Given the description of an element on the screen output the (x, y) to click on. 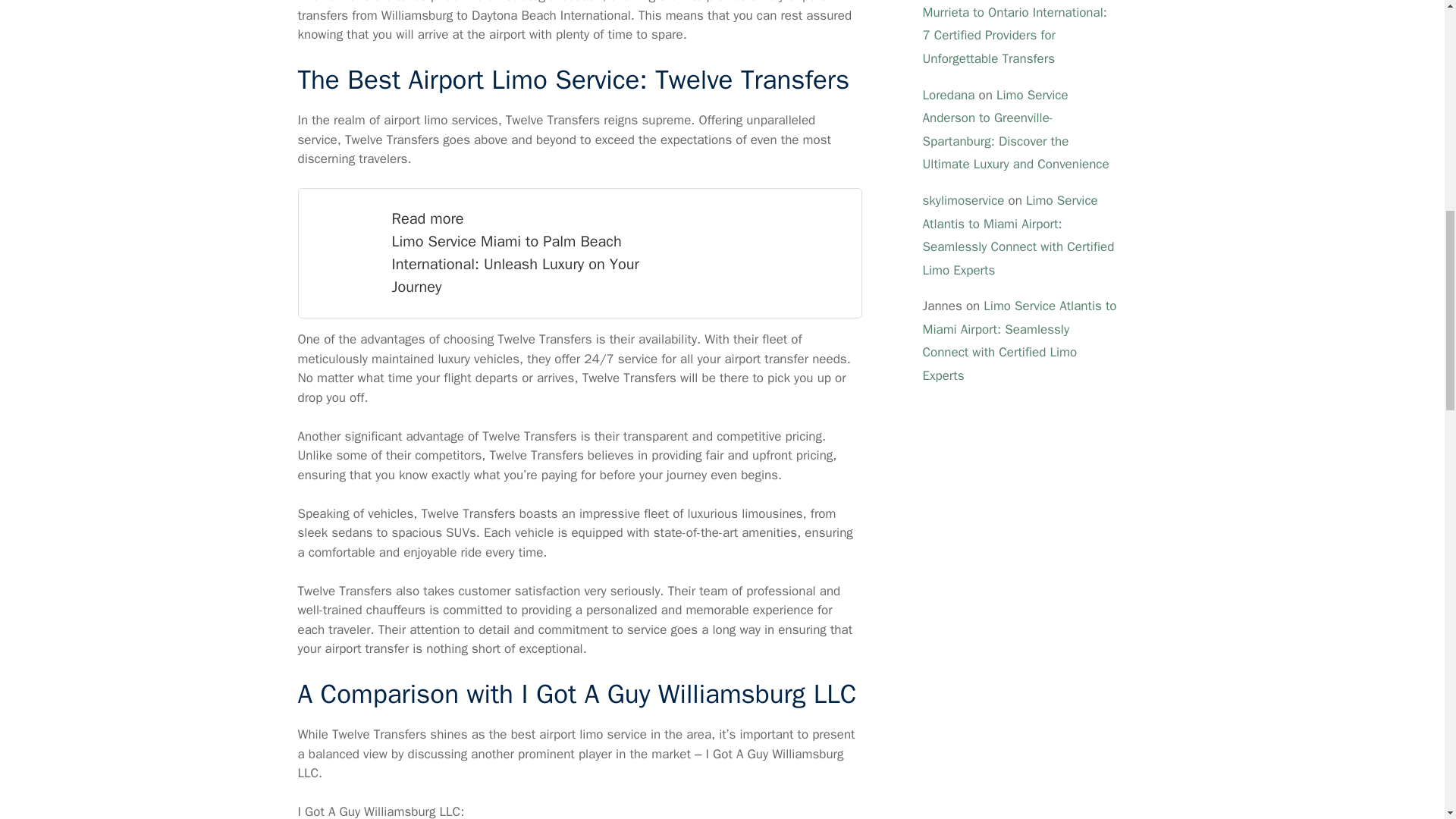
Loredana (947, 94)
skylimoservice (962, 200)
airport limo services (440, 119)
